Given the description of an element on the screen output the (x, y) to click on. 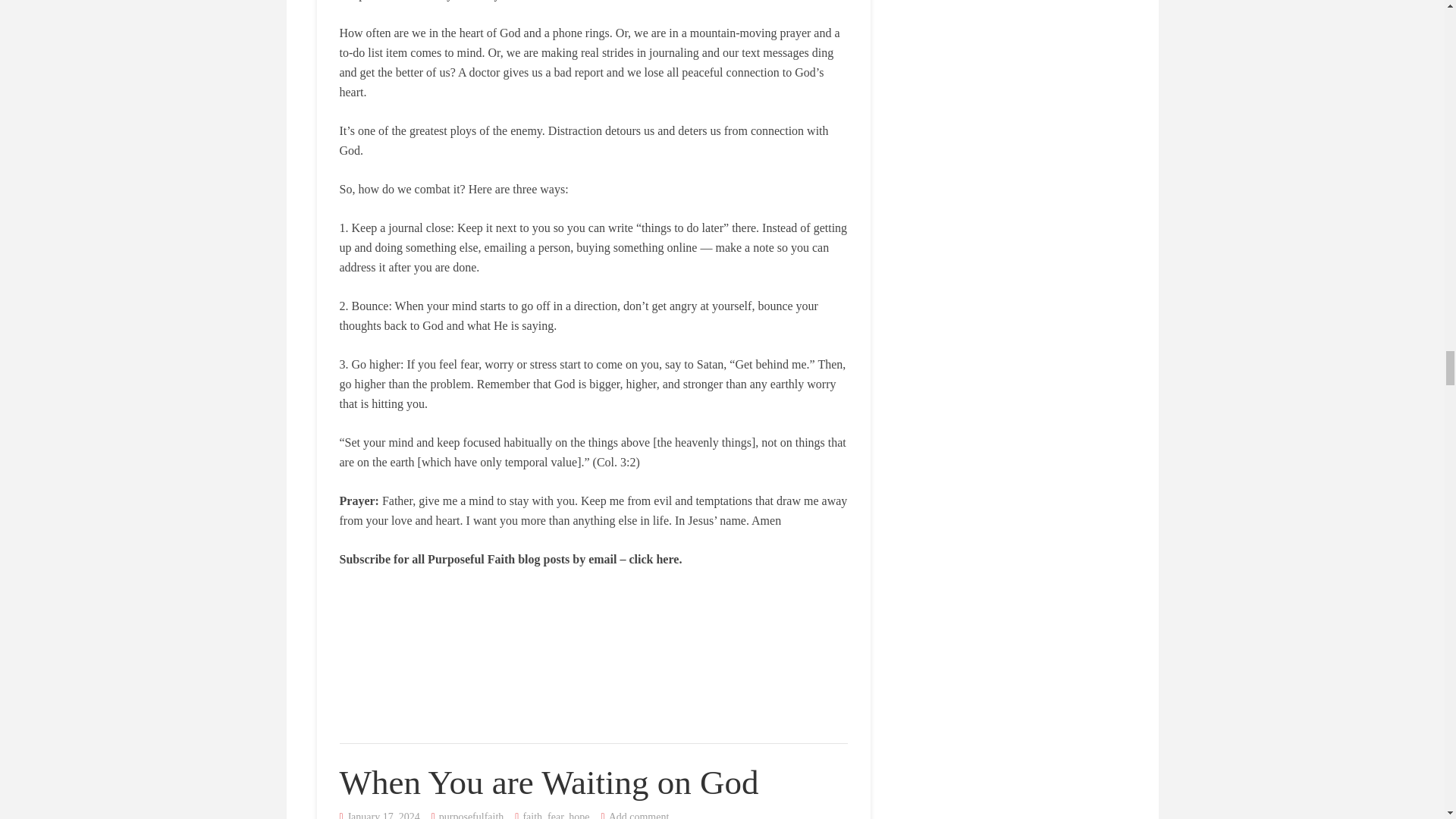
When You are Waiting on God (548, 782)
